Given the description of an element on the screen output the (x, y) to click on. 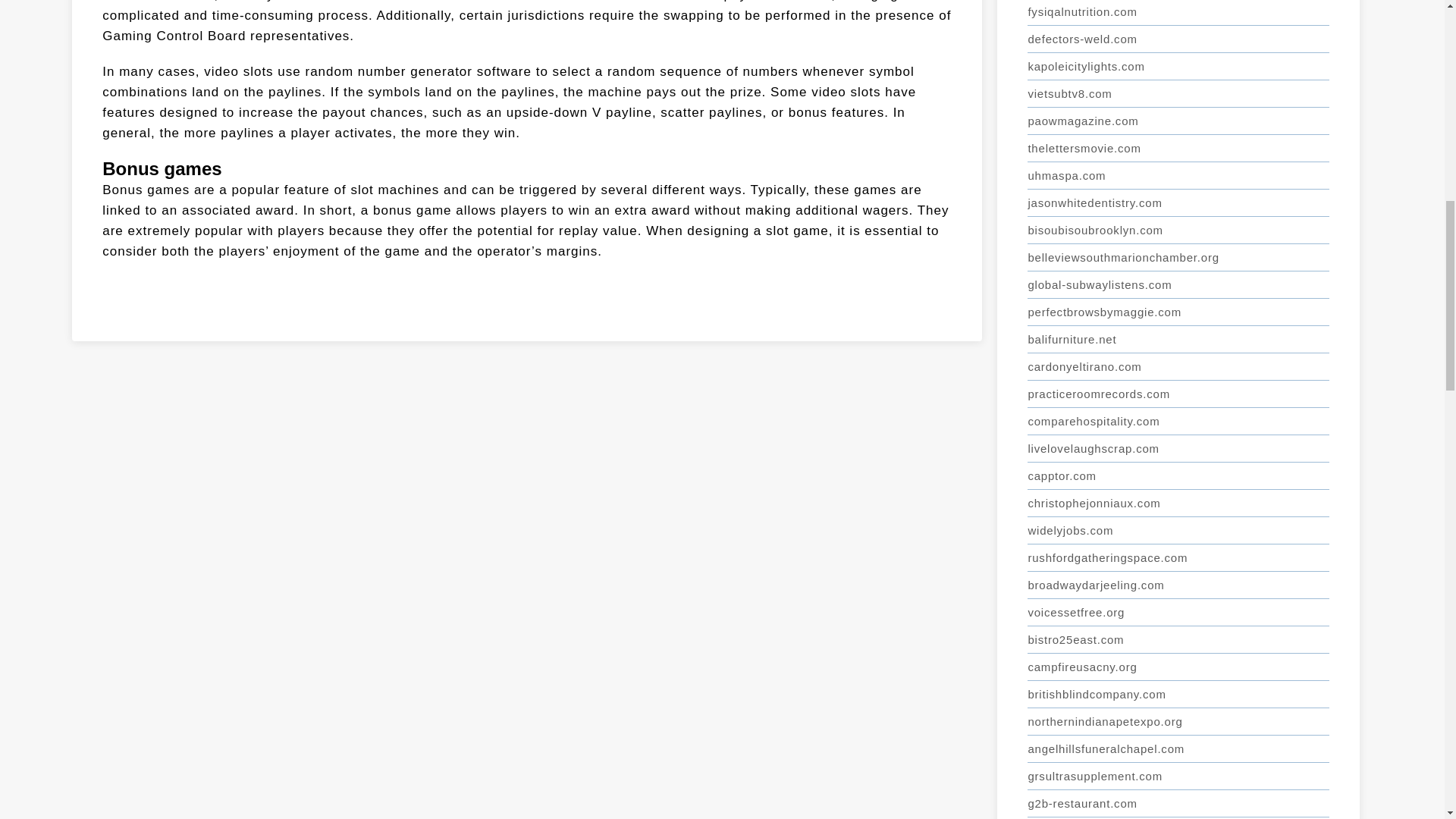
belleviewsouthmarionchamber.org (1177, 257)
vietsubtv8.com (1177, 93)
fysiqalnutrition.com (1177, 12)
kapoleicitylights.com (1177, 66)
paowmagazine.com (1177, 121)
bisoubisoubrooklyn.com (1177, 230)
uhmaspa.com (1177, 175)
global-subwaylistens.com (1177, 284)
thelettersmovie.com (1177, 148)
defectors-weld.com (1177, 39)
